Given the description of an element on the screen output the (x, y) to click on. 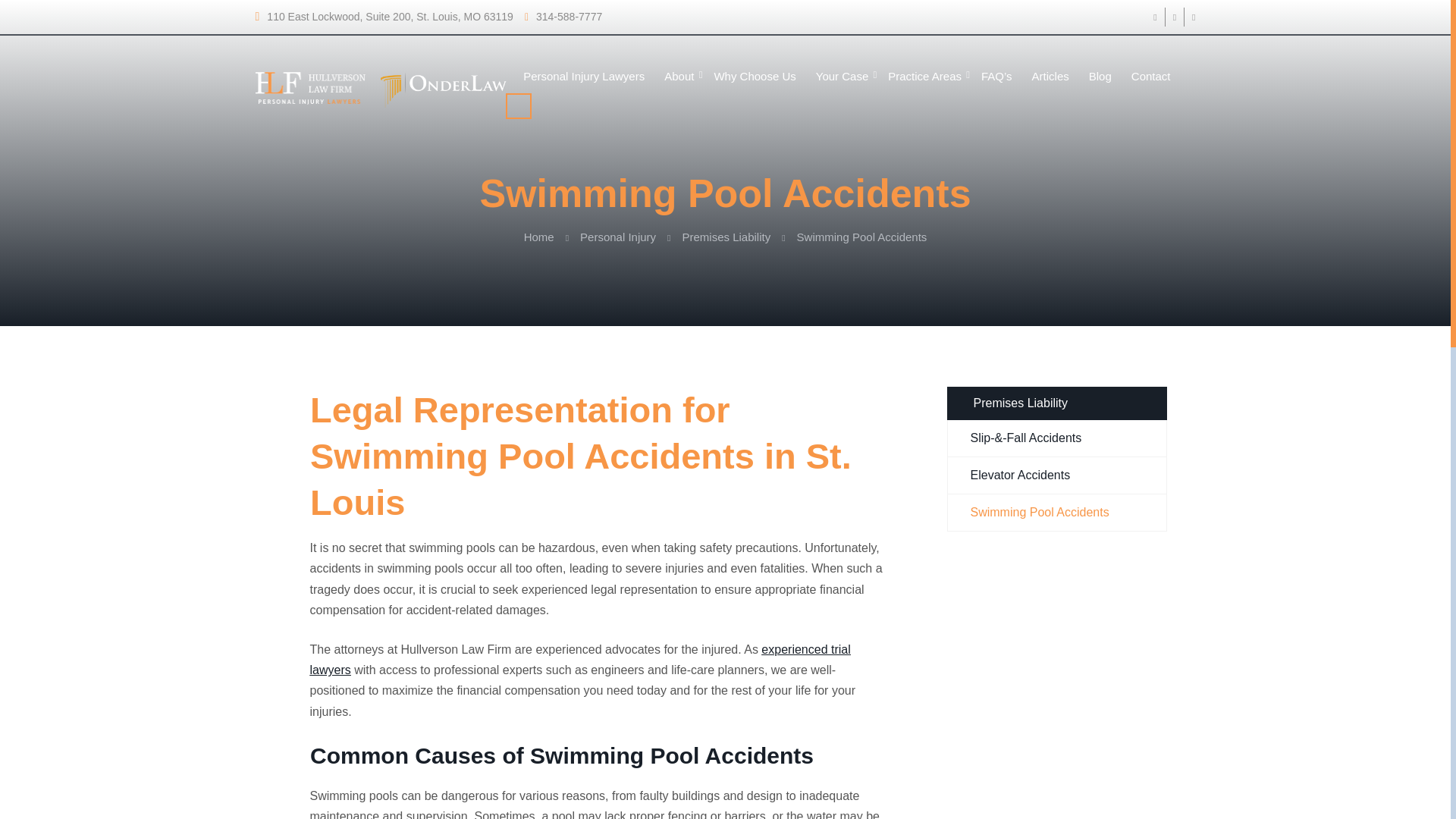
Go to Premises Liability. (726, 236)
314-588-7777 (193, 16)
Go to Personal Injury. (617, 236)
Why Choose Us (754, 72)
Your Case (841, 73)
Personal Injury Lawyers (583, 57)
About (678, 60)
Go to Hullverson Law Firm. (539, 236)
Practice Areas (924, 76)
